Given the description of an element on the screen output the (x, y) to click on. 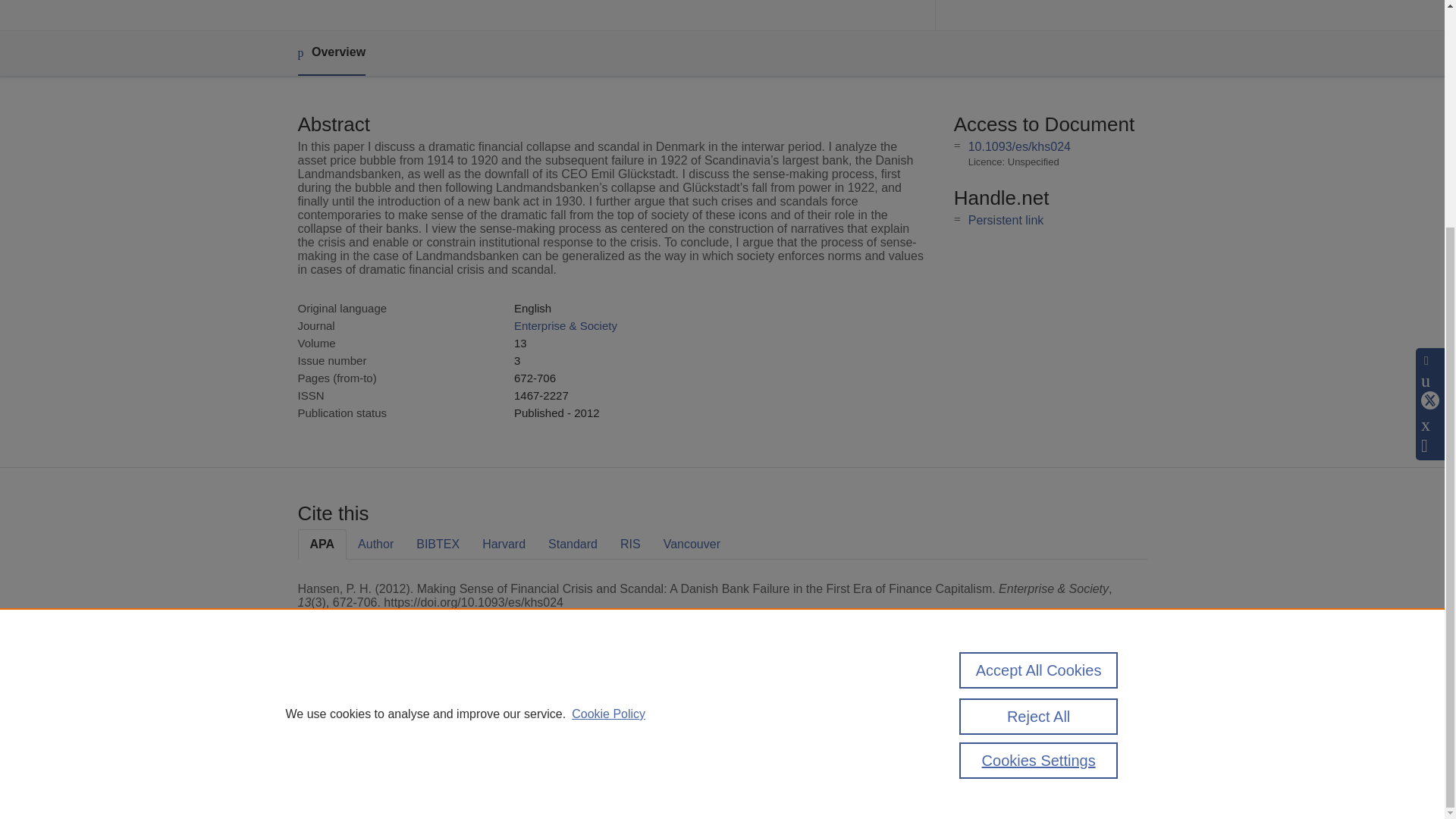
Cookies Settings (334, 781)
Persistent link (1005, 219)
Cookie Policy (608, 408)
Report vulnerability (993, 760)
Overview (331, 53)
Elsevier B.V. (506, 728)
Pure (362, 708)
Cookies Settings (1038, 454)
Scopus (394, 708)
CBS Research Portal data protection policy (1009, 713)
